Given the description of an element on the screen output the (x, y) to click on. 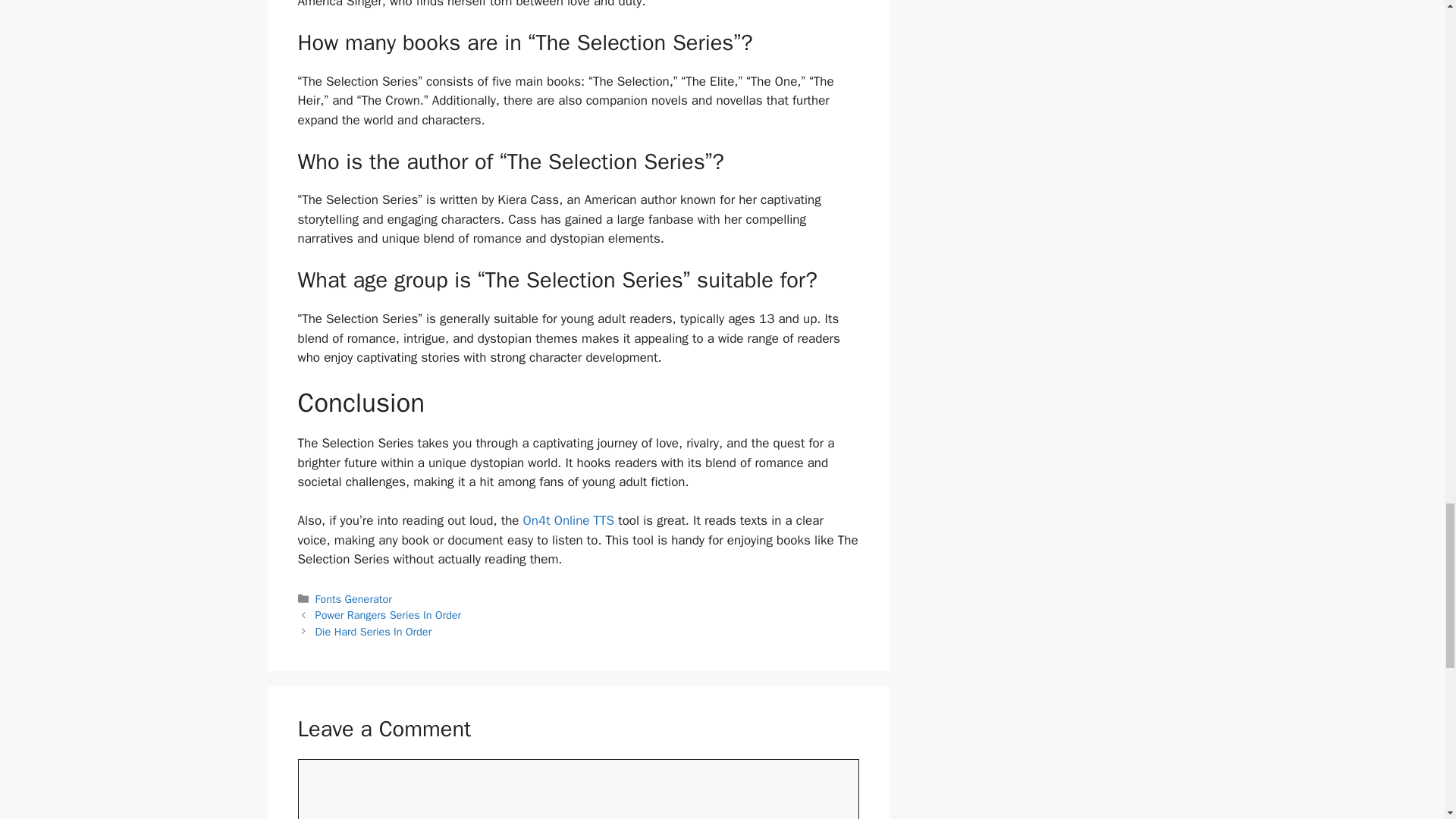
Fonts Generator (353, 599)
Power Rangers Series In Order (388, 614)
Die Hard Series In Order (373, 631)
On4t Online TTS (568, 520)
